Given the description of an element on the screen output the (x, y) to click on. 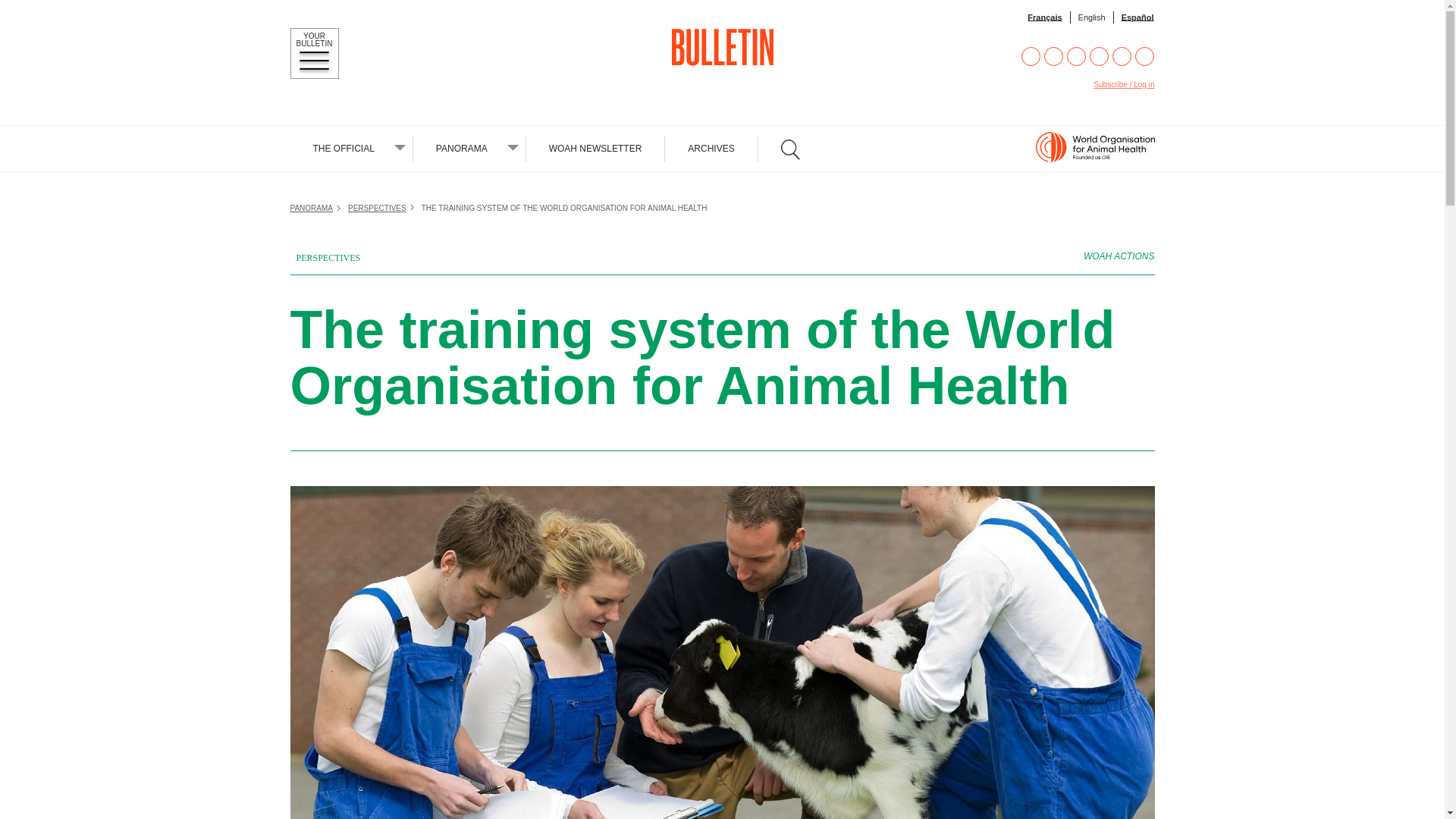
Facebook (1031, 56)
Twitter (1052, 56)
English (1091, 17)
Instagram (1076, 56)
